Given the description of an element on the screen output the (x, y) to click on. 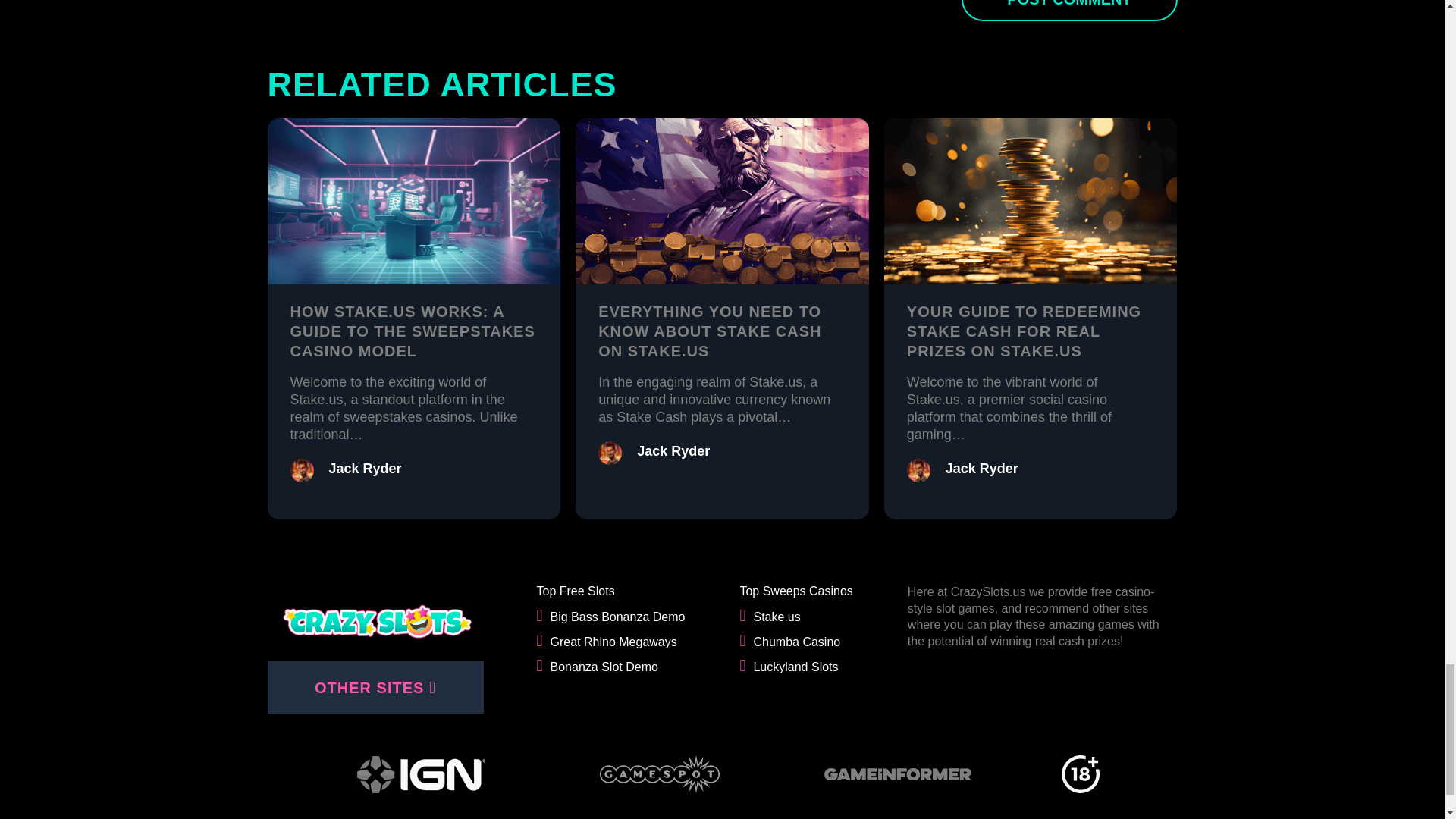
Jack Ryder (365, 468)
Jack Ryder (980, 468)
Post Comment (1068, 10)
HOW STAKE.US WORKS: A GUIDE TO THE SWEEPSTAKES CASINO MODEL (411, 331)
Post Comment (1068, 10)
EVERYTHING YOU NEED TO KNOW ABOUT STAKE CASH ON STAKE.US (709, 331)
Jack Ryder (673, 450)
